Given the description of an element on the screen output the (x, y) to click on. 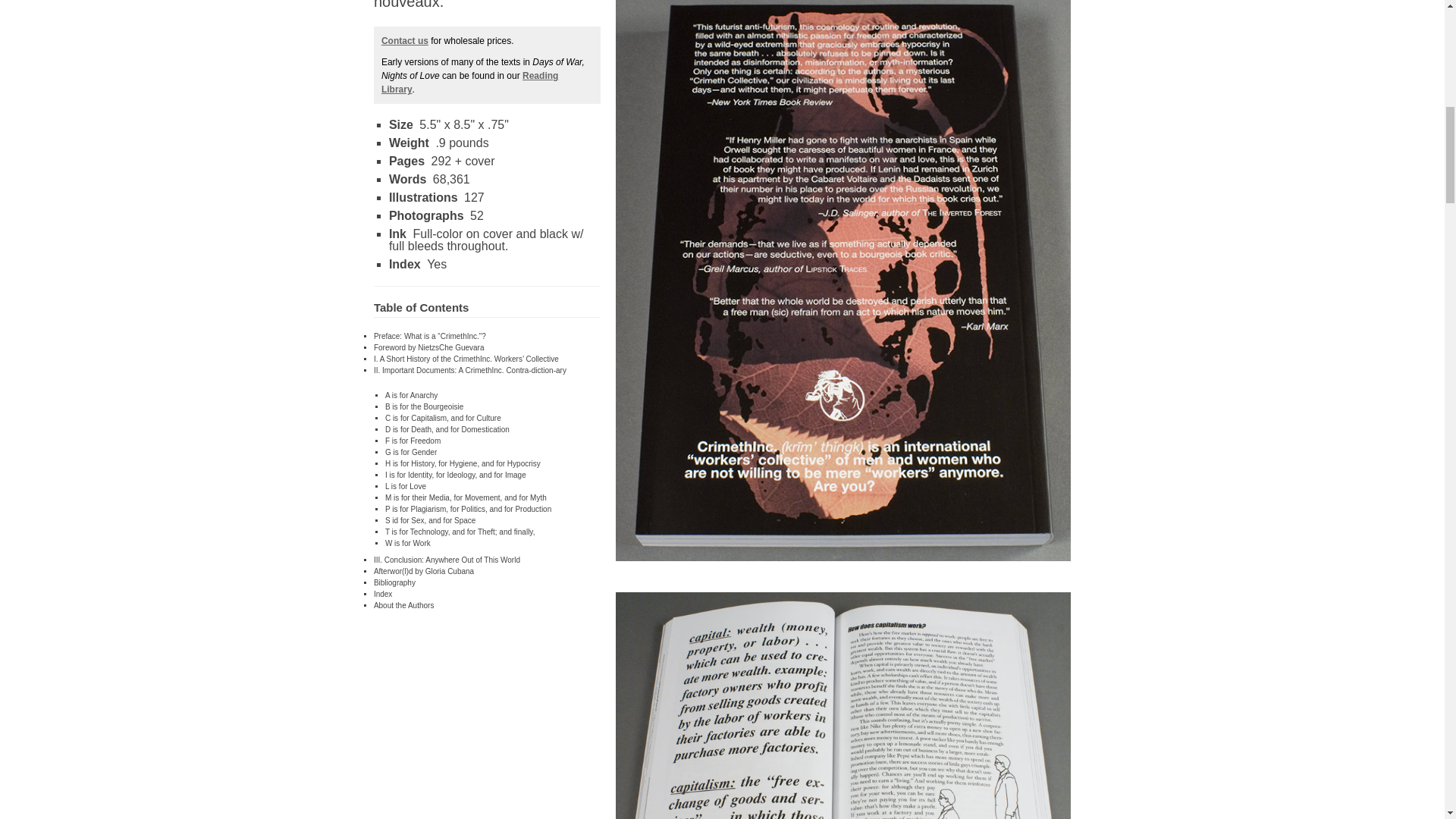
Reading Library (469, 82)
Contact us (404, 40)
